Given the description of an element on the screen output the (x, y) to click on. 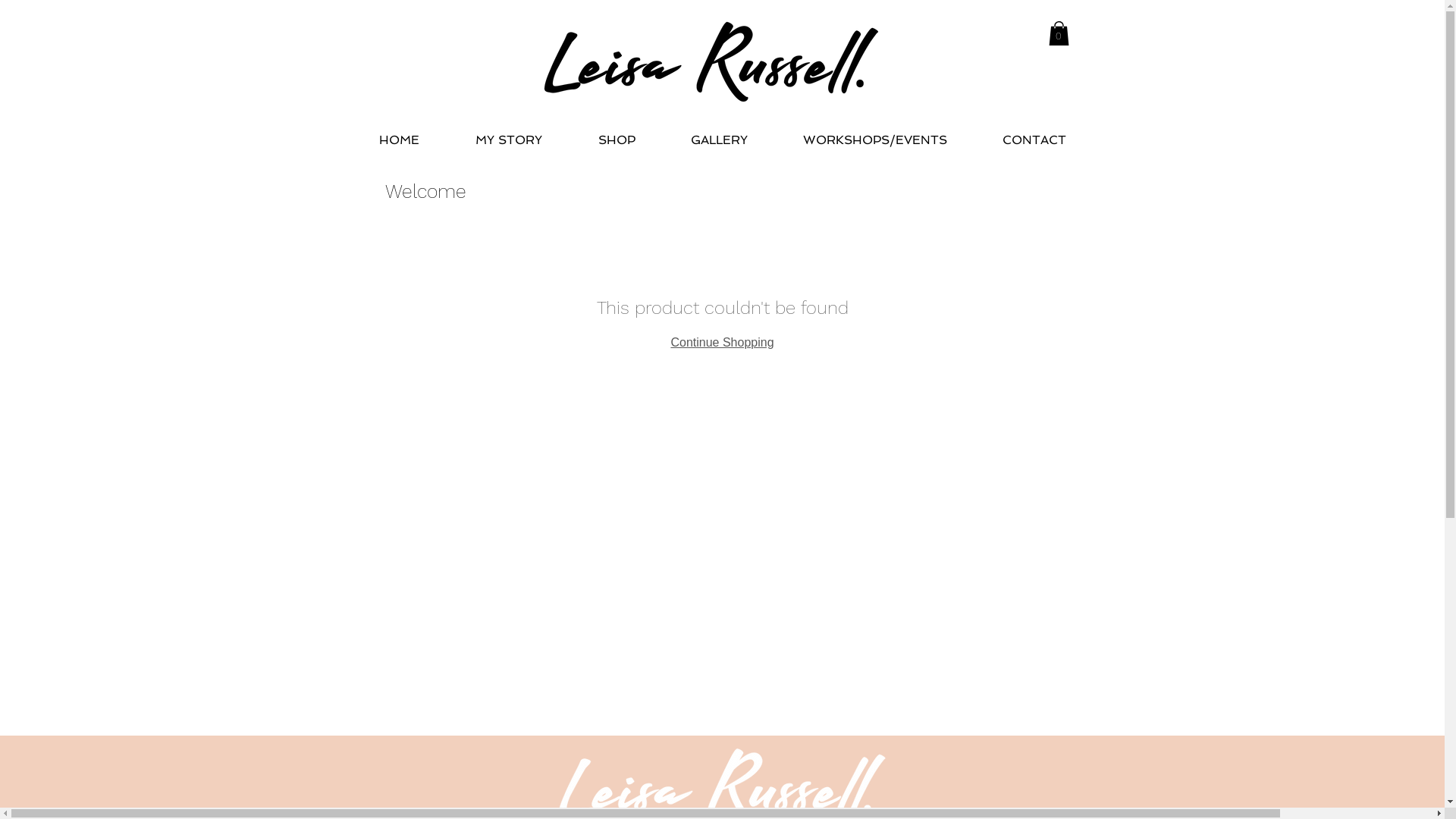
GALLERY Element type: text (718, 132)
MY STORY Element type: text (508, 132)
Welcome Element type: text (425, 191)
HOME Element type: text (398, 132)
WORKSHOPS/EVENTS Element type: text (874, 132)
0 Element type: text (1058, 33)
CONTACT Element type: text (1034, 132)
SHOP Element type: text (616, 132)
Continue Shopping Element type: text (721, 341)
